Given the description of an element on the screen output the (x, y) to click on. 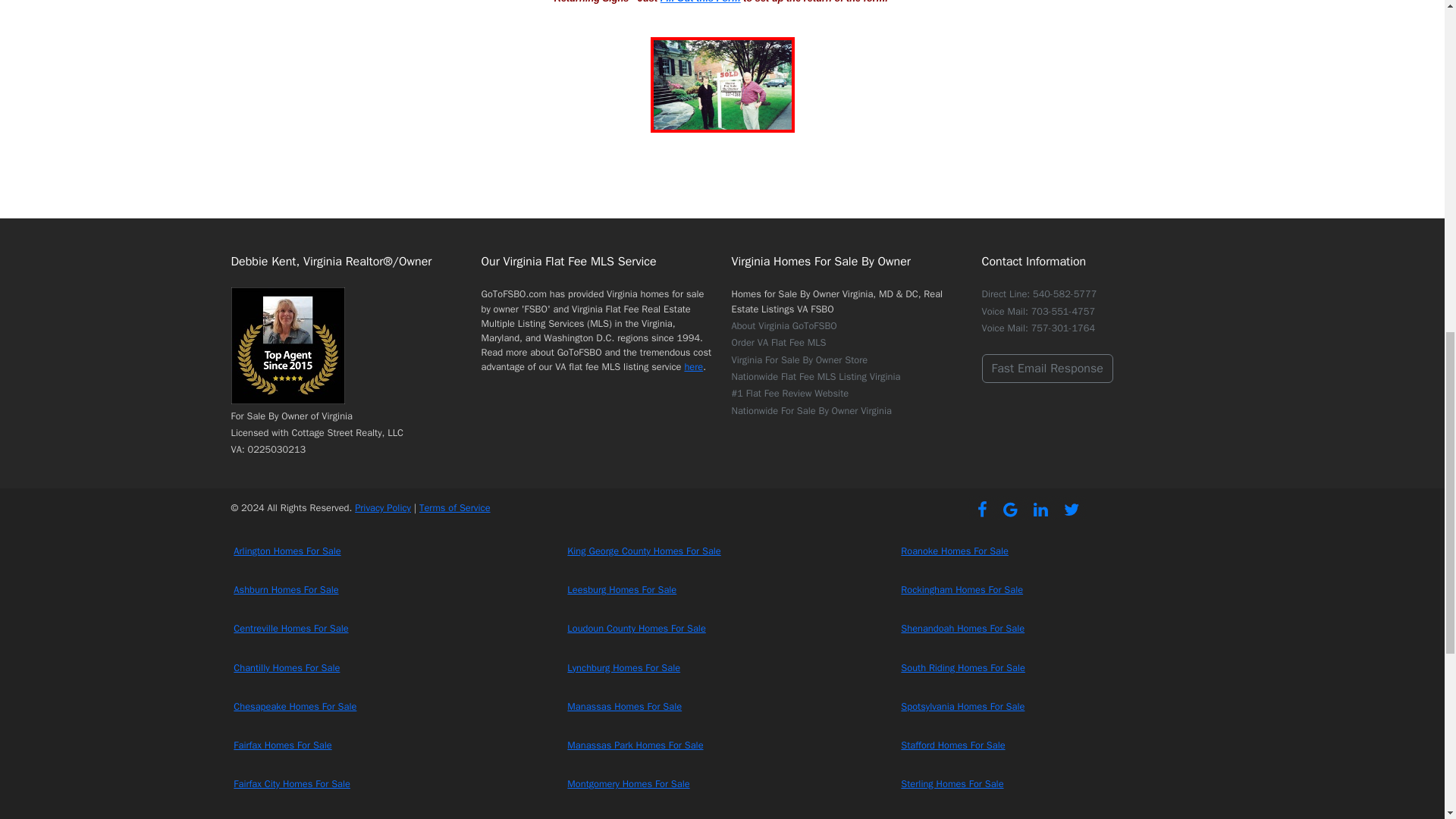
Order VA Flat Fee MLS (777, 342)
Nationwide Flat Fee MLS Listing Virginia (814, 377)
Fill Out this Form (701, 2)
here (693, 367)
Virginia For Sale By Owner Store (798, 359)
About Virginia GoToFSBO (782, 326)
